Given the description of an element on the screen output the (x, y) to click on. 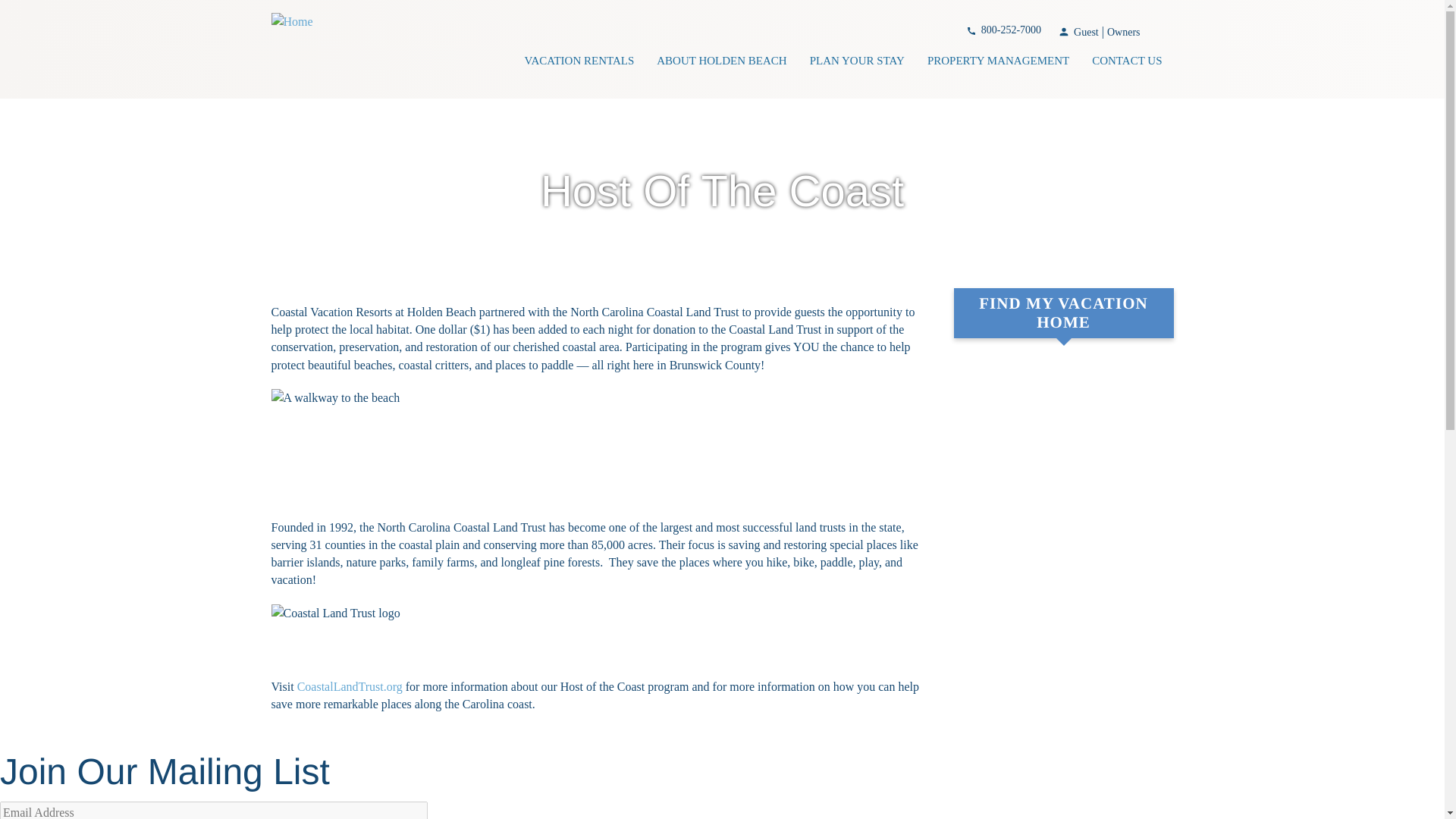
800-252-7000 (1003, 29)
PLAN YOUR STAY (856, 62)
ABOUT HOLDEN BEACH (721, 62)
VACATION RENTALS (578, 62)
Owners (1123, 32)
Owners (1123, 32)
Home (291, 19)
Guest (1086, 32)
Guest (1086, 32)
